Given the description of an element on the screen output the (x, y) to click on. 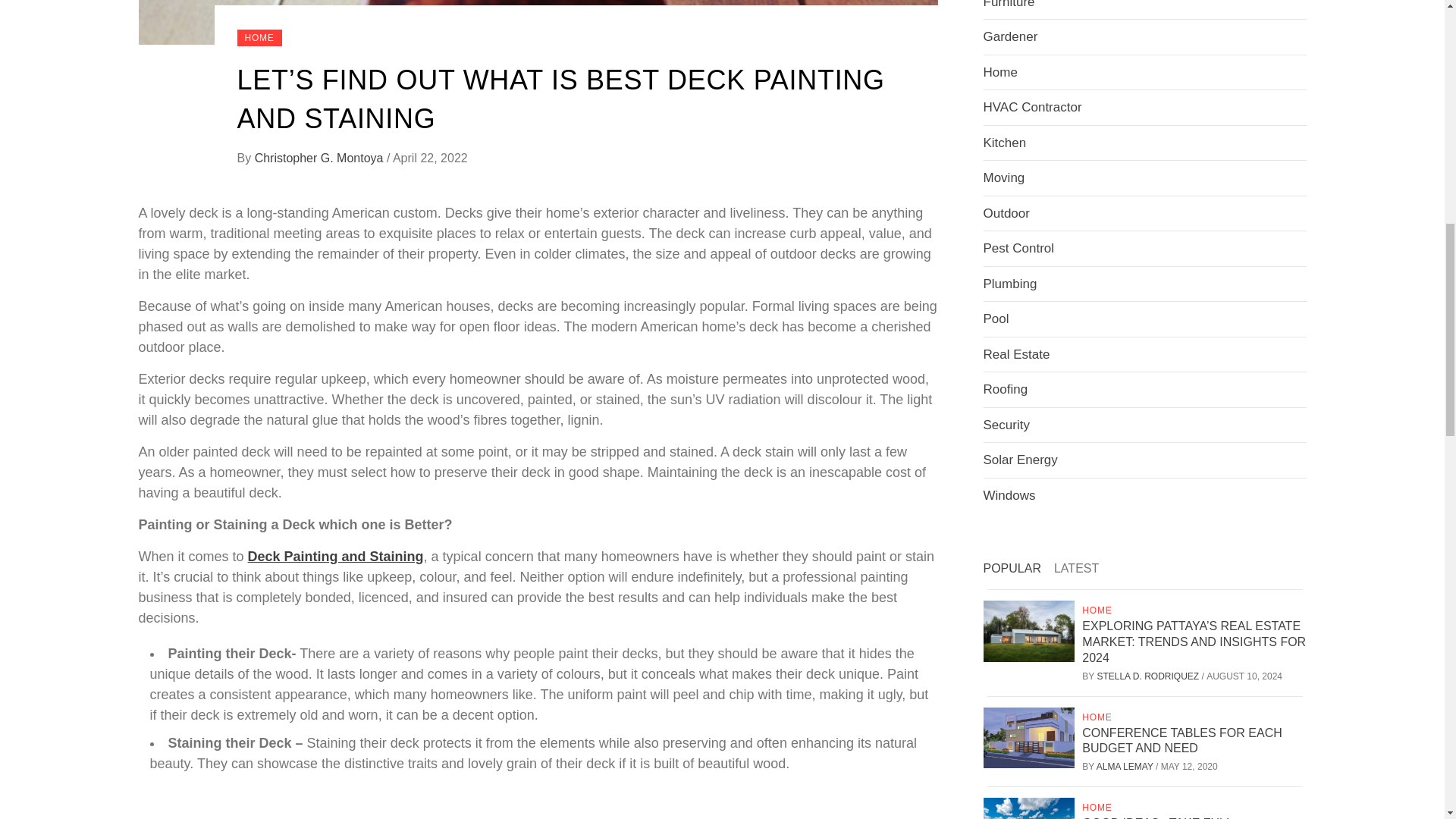
HOME (258, 37)
Deck Painting and Staining (335, 556)
Christopher G. Montoya (320, 157)
